Given the description of an element on the screen output the (x, y) to click on. 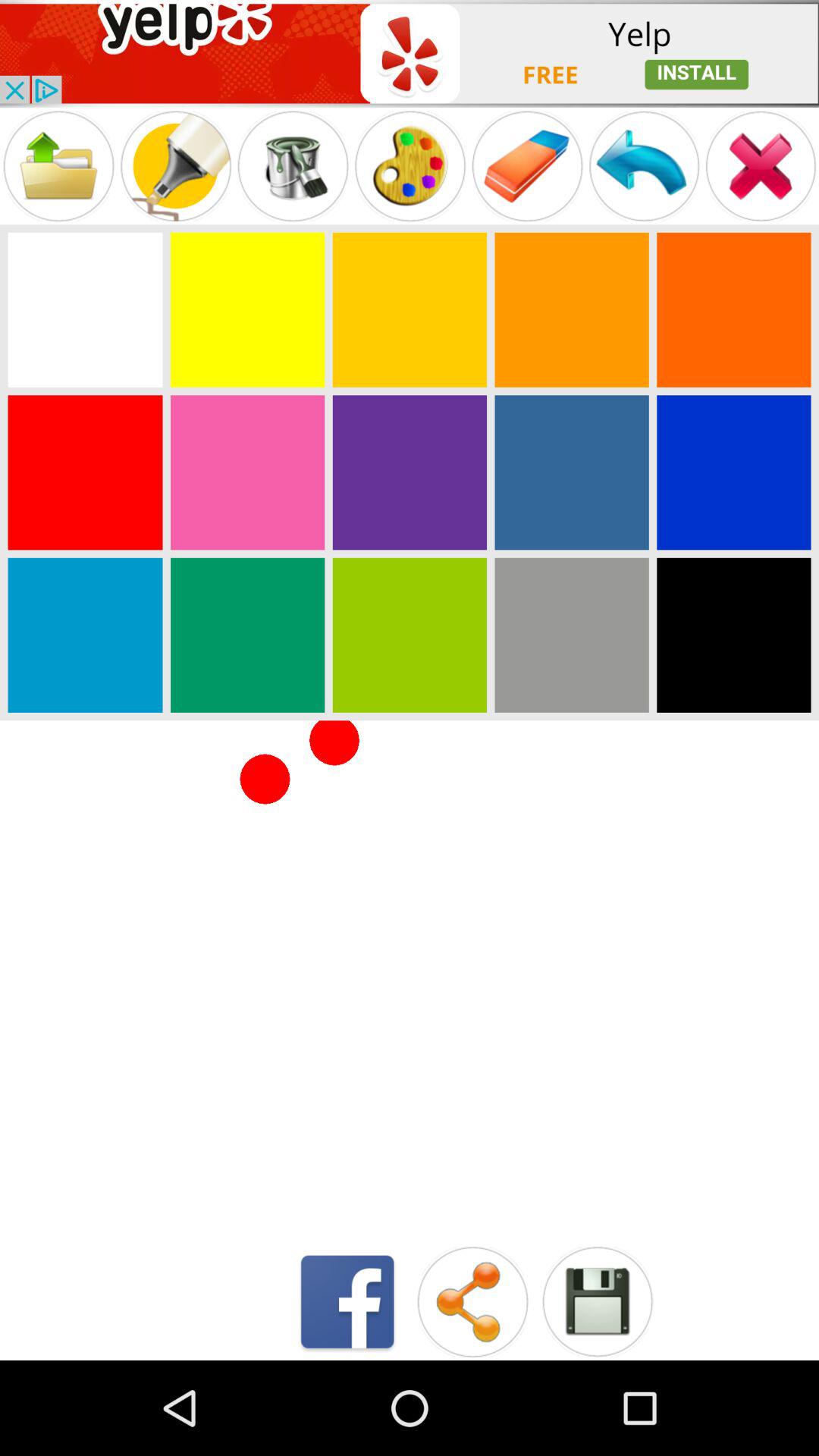
use eraser (526, 165)
